Given the description of an element on the screen output the (x, y) to click on. 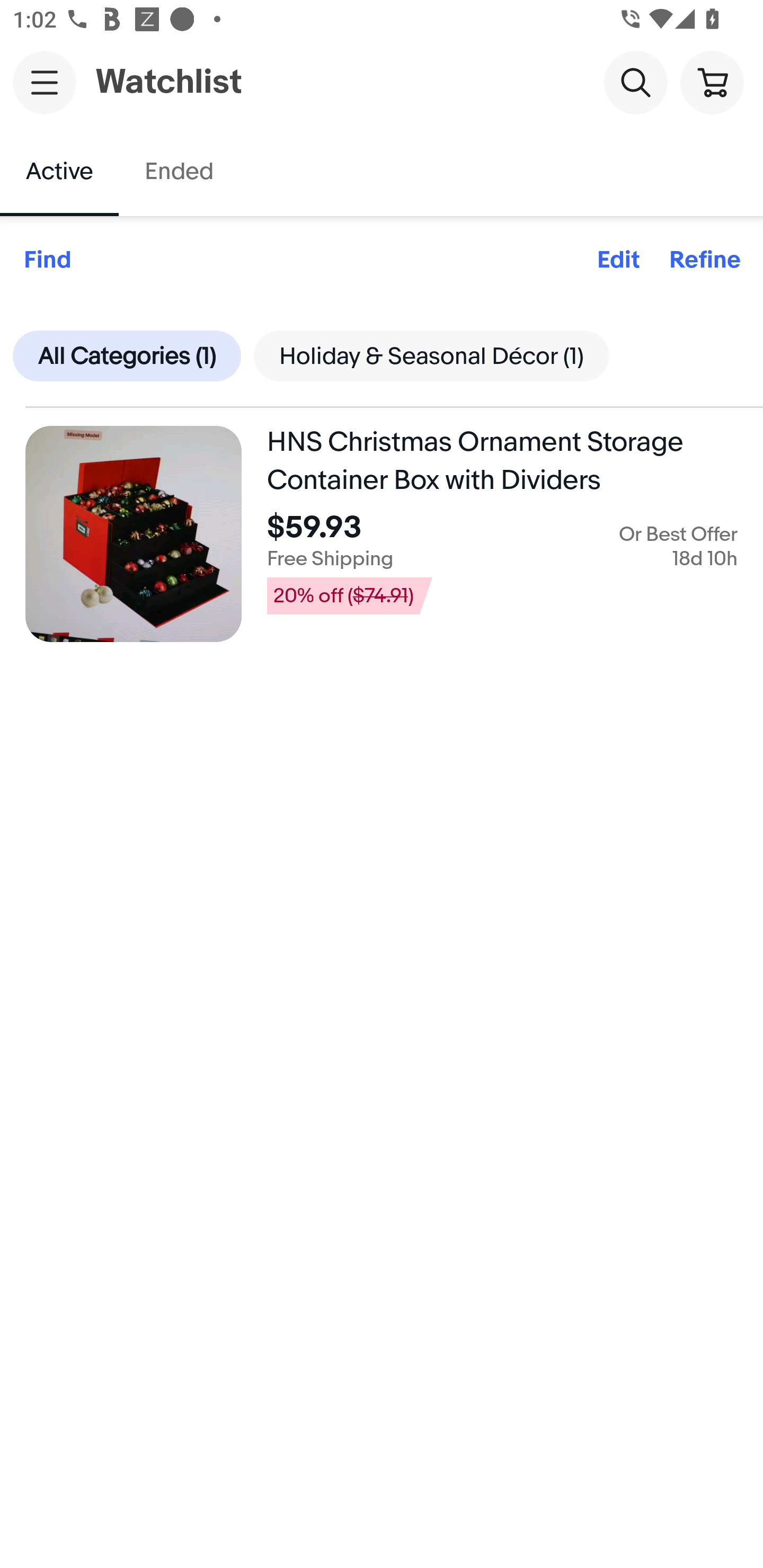
Main navigation, open (44, 82)
Search (635, 81)
Cart button shopping cart (711, 81)
Ended (178, 171)
Find Find in list (47, 260)
Edit Edit list (617, 260)
Refine Refine list (704, 260)
All Categories (1) (126, 355)
Holiday & Seasonal Décor (1) (431, 355)
